Given the description of an element on the screen output the (x, y) to click on. 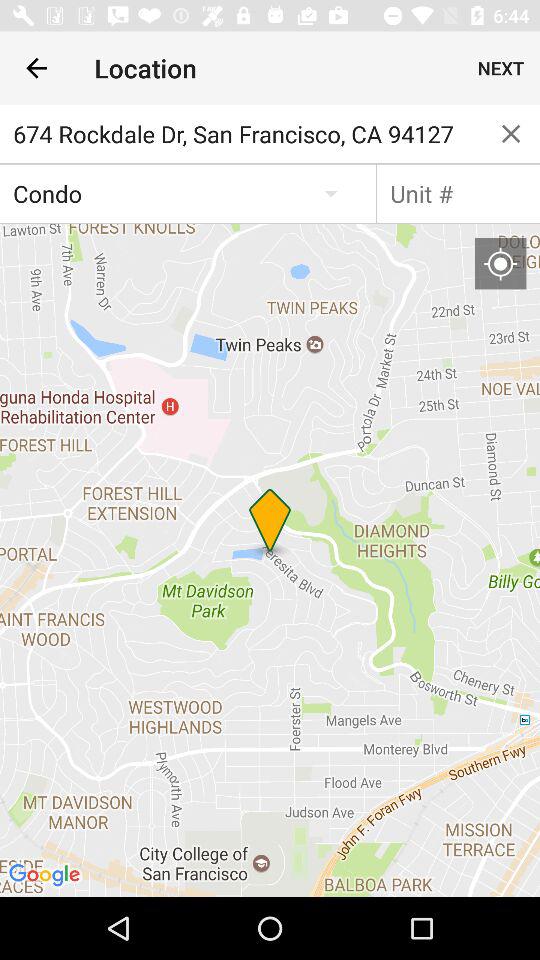
scroll until the next icon (500, 67)
